Given the description of an element on the screen output the (x, y) to click on. 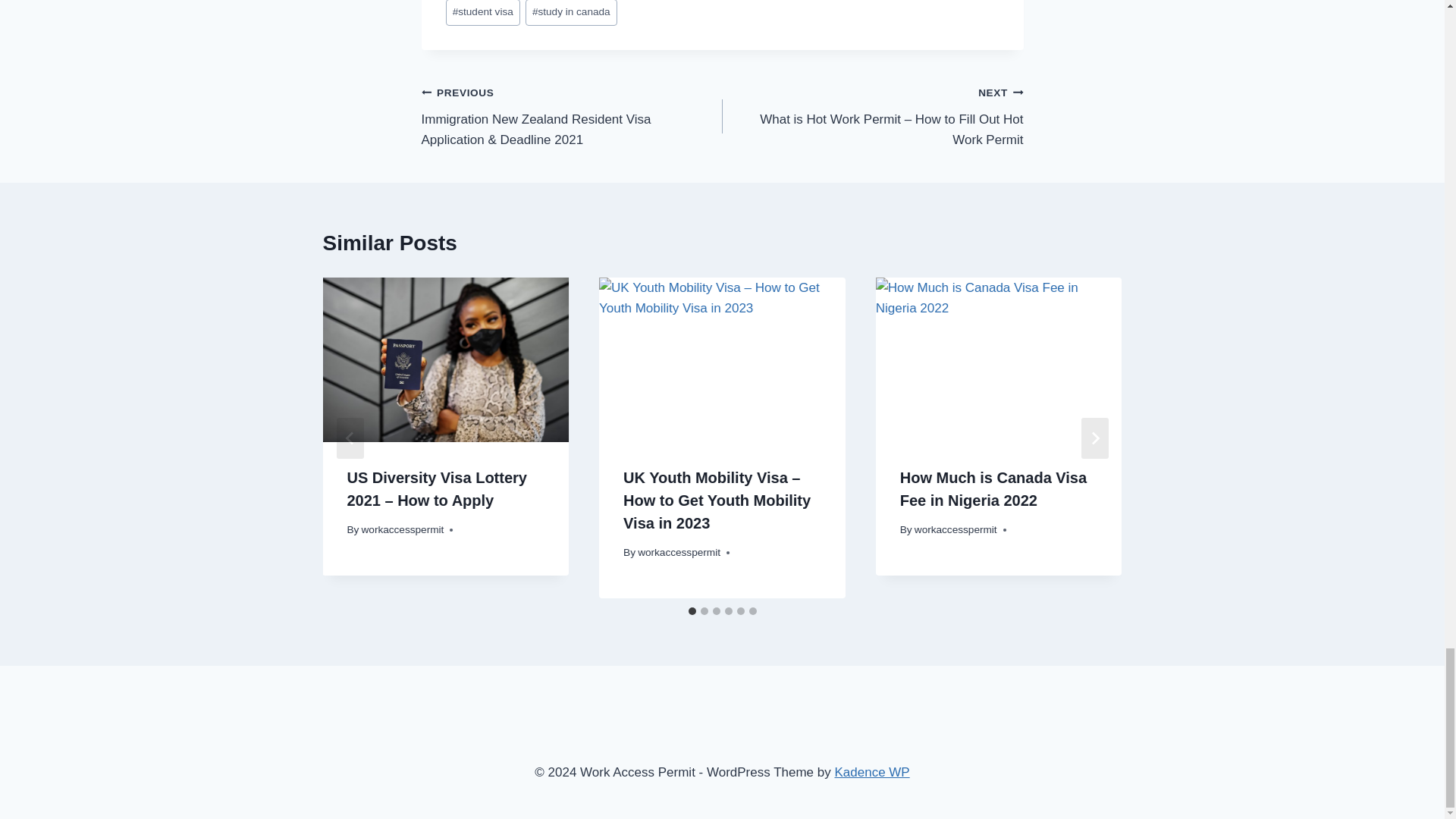
student visa (482, 12)
study in canada (571, 12)
